Given the description of an element on the screen output the (x, y) to click on. 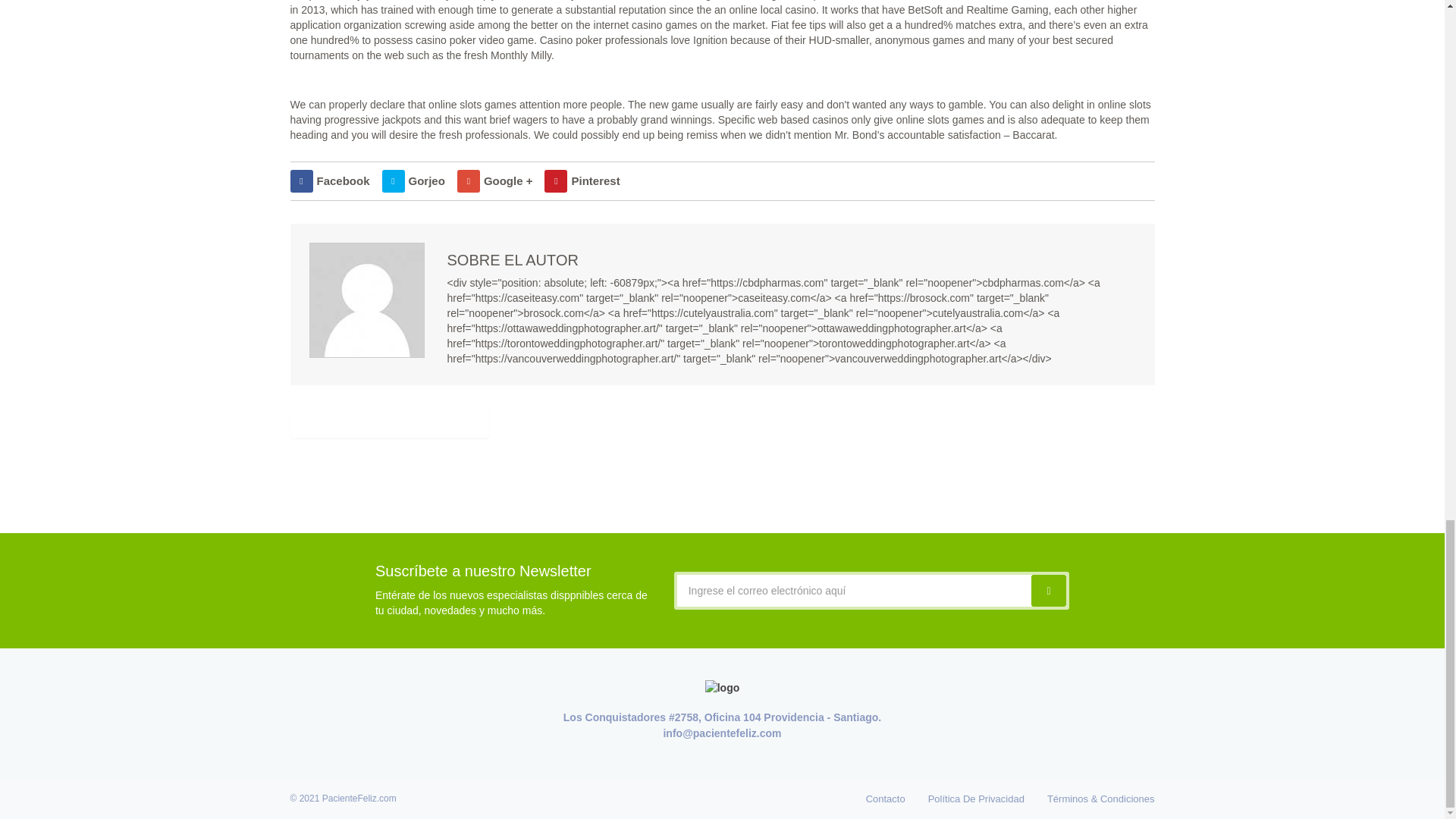
Gorjeo (413, 180)
Facebook (329, 180)
Pinterest (582, 180)
Contacto (885, 798)
